Given the description of an element on the screen output the (x, y) to click on. 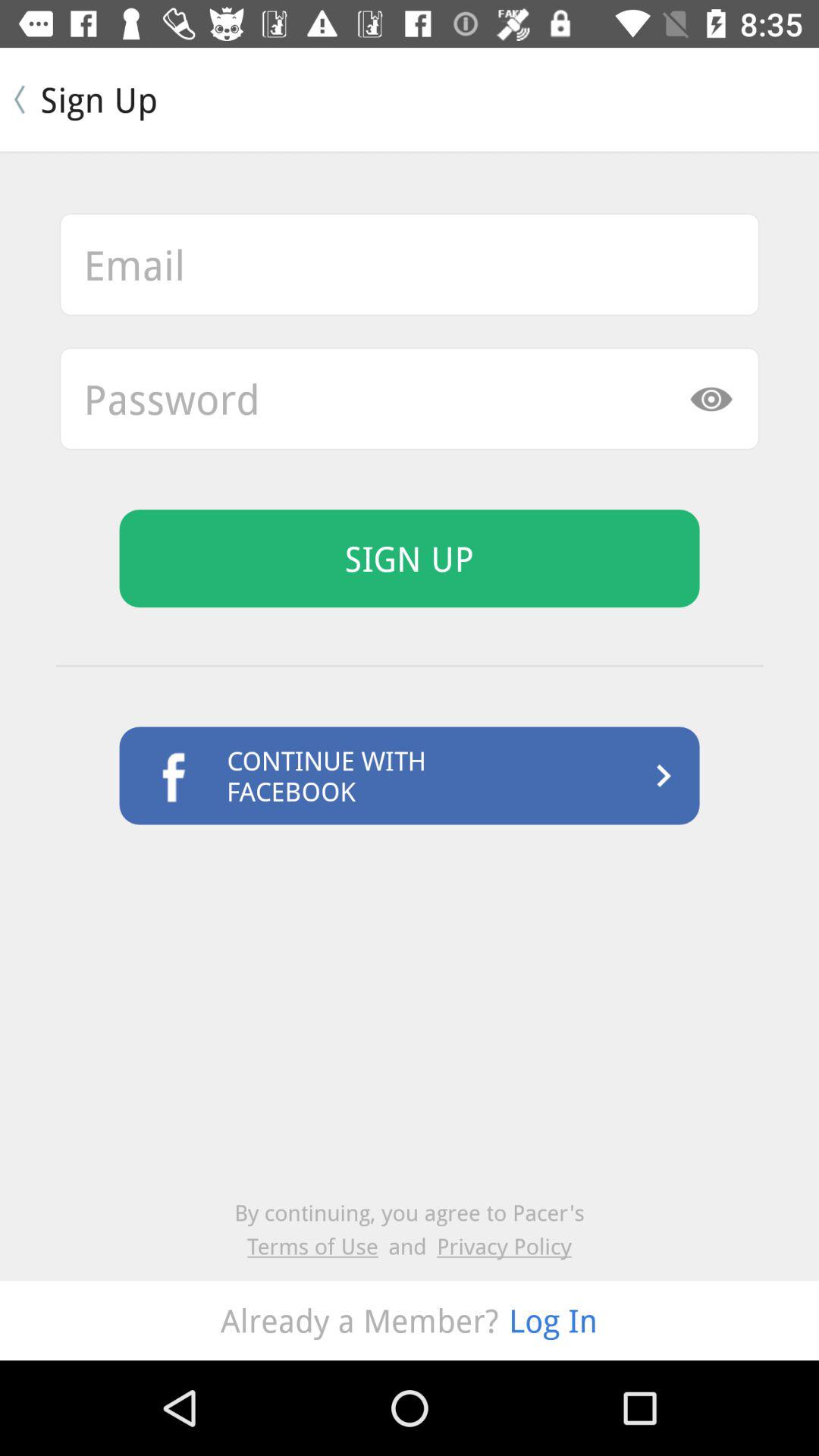
this option email address box (409, 264)
